Given the description of an element on the screen output the (x, y) to click on. 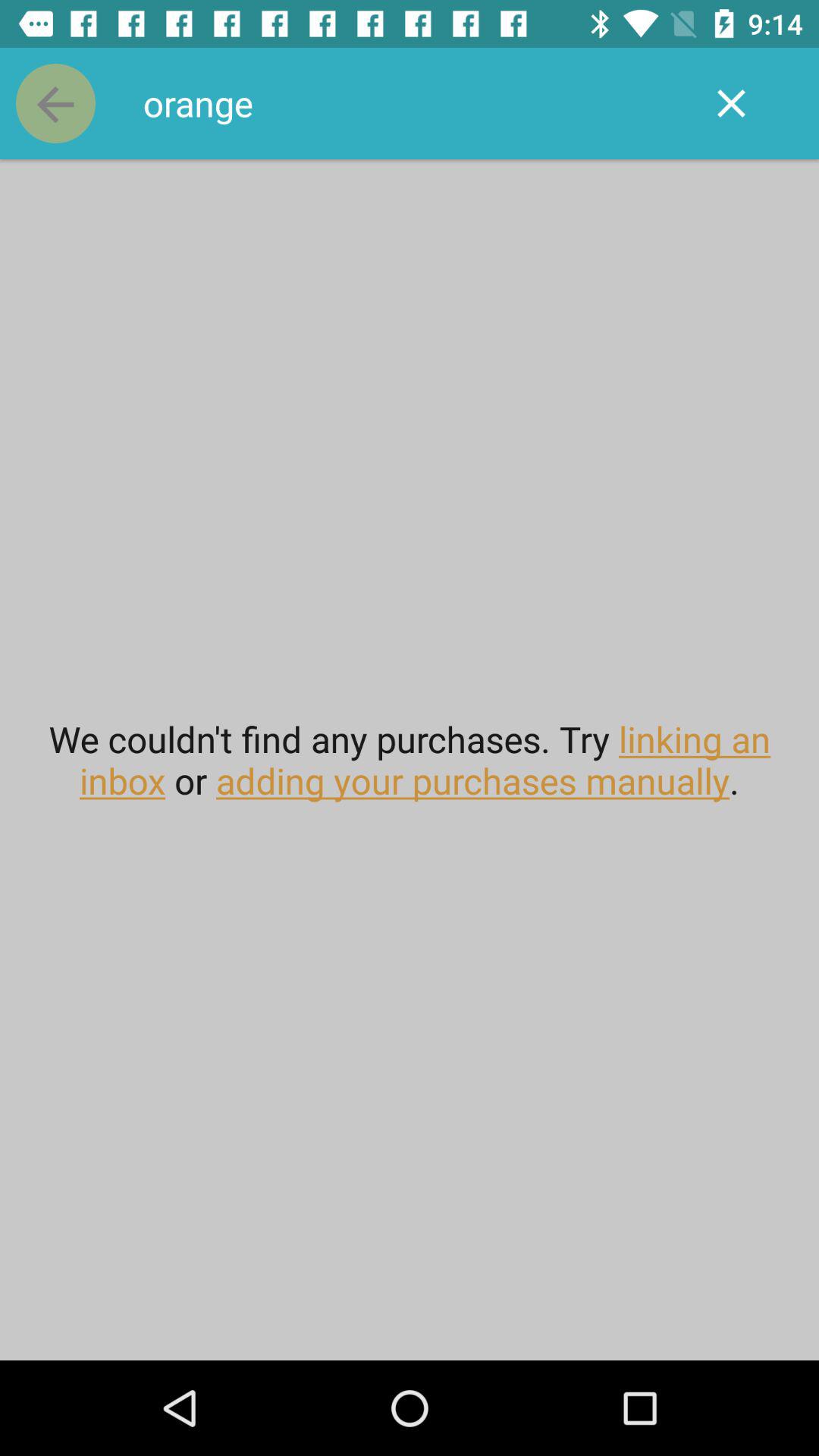
choose the orange item (409, 103)
